Given the description of an element on the screen output the (x, y) to click on. 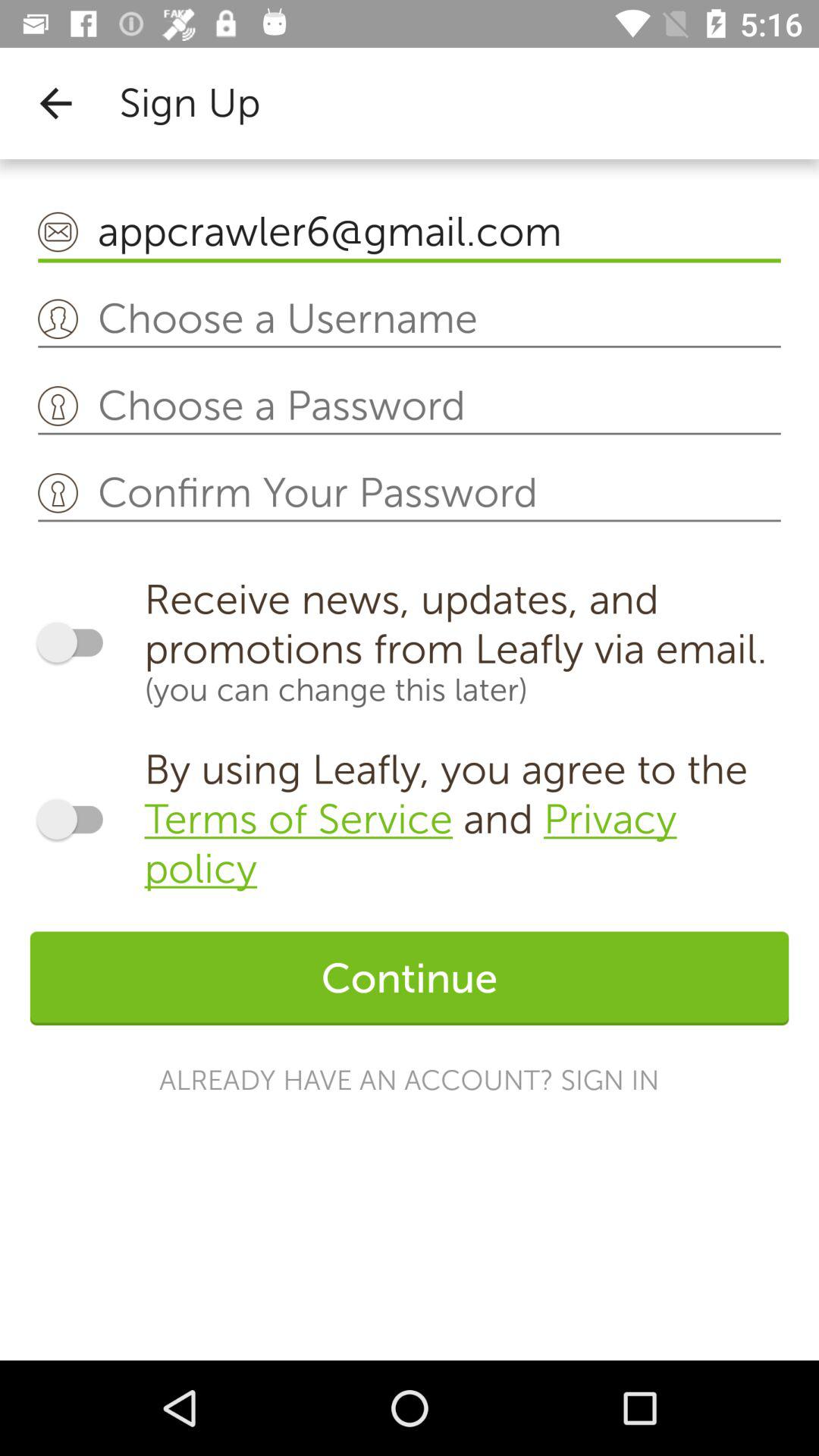
pick password (409, 406)
